Given the description of an element on the screen output the (x, y) to click on. 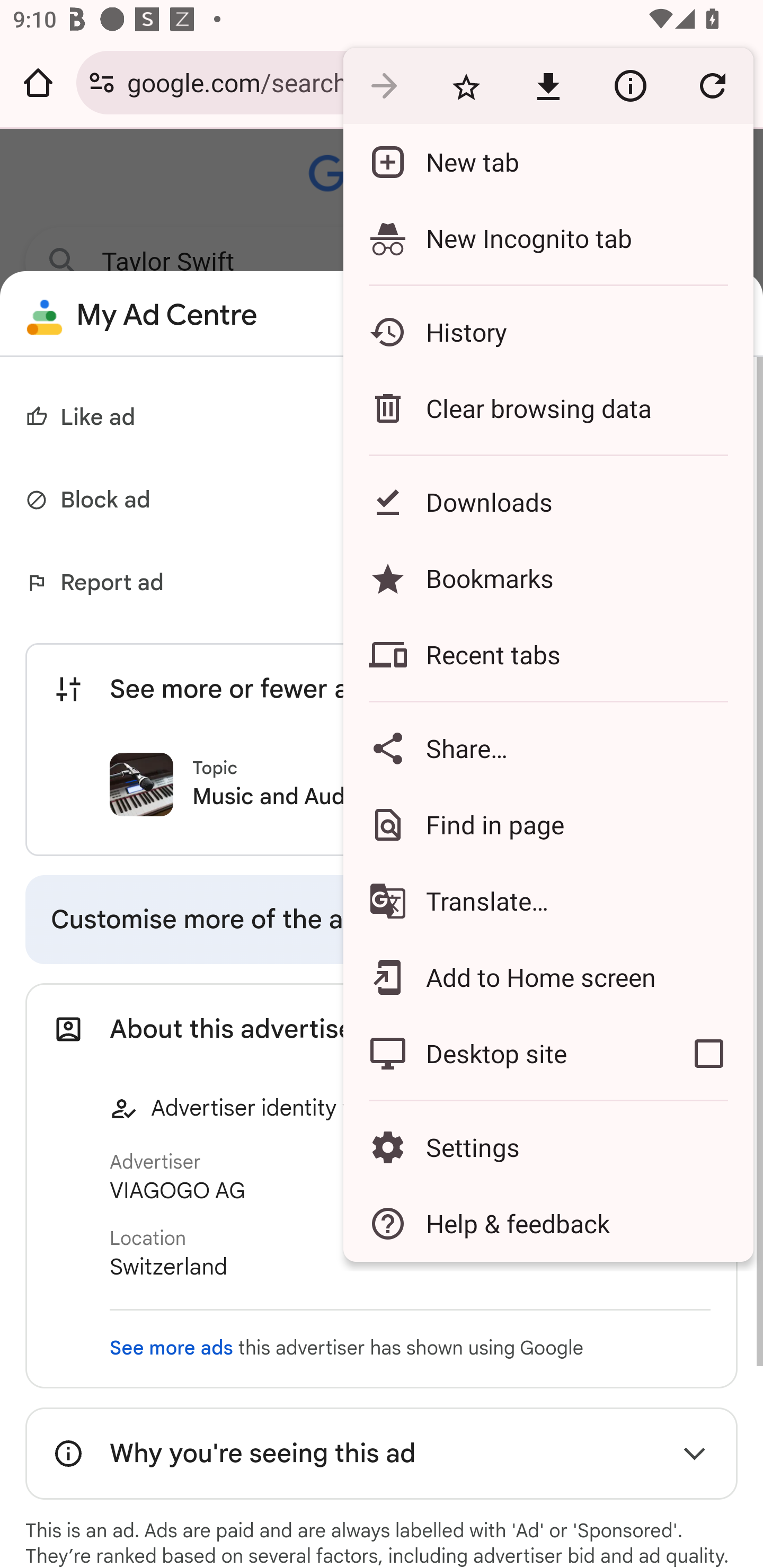
Forward (383, 85)
Bookmark (465, 85)
Download (548, 85)
Page info (630, 85)
Refresh (712, 85)
New tab (548, 161)
New Incognito tab (548, 237)
History (548, 332)
Clear browsing data (548, 408)
Downloads (548, 502)
Bookmarks (548, 578)
Recent tabs (548, 654)
Share… (548, 748)
Find in page (548, 824)
Translate… (548, 900)
Add to Home screen (548, 977)
Desktop site Turn on Request desktop site (503, 1053)
Settings (548, 1146)
Help & feedback (548, 1223)
